Given the description of an element on the screen output the (x, y) to click on. 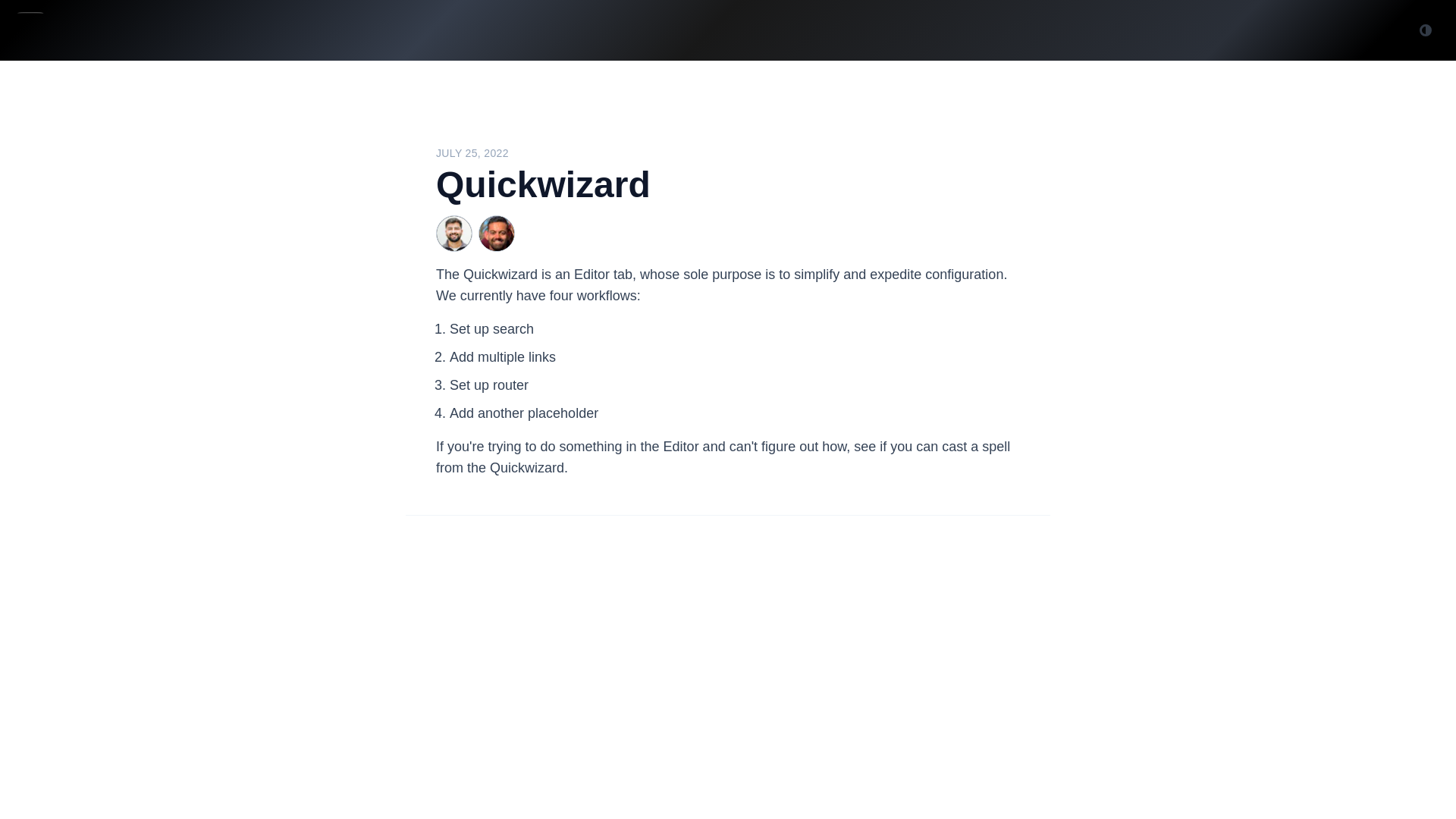
Switch to dark theme (1425, 30)
